Given the description of an element on the screen output the (x, y) to click on. 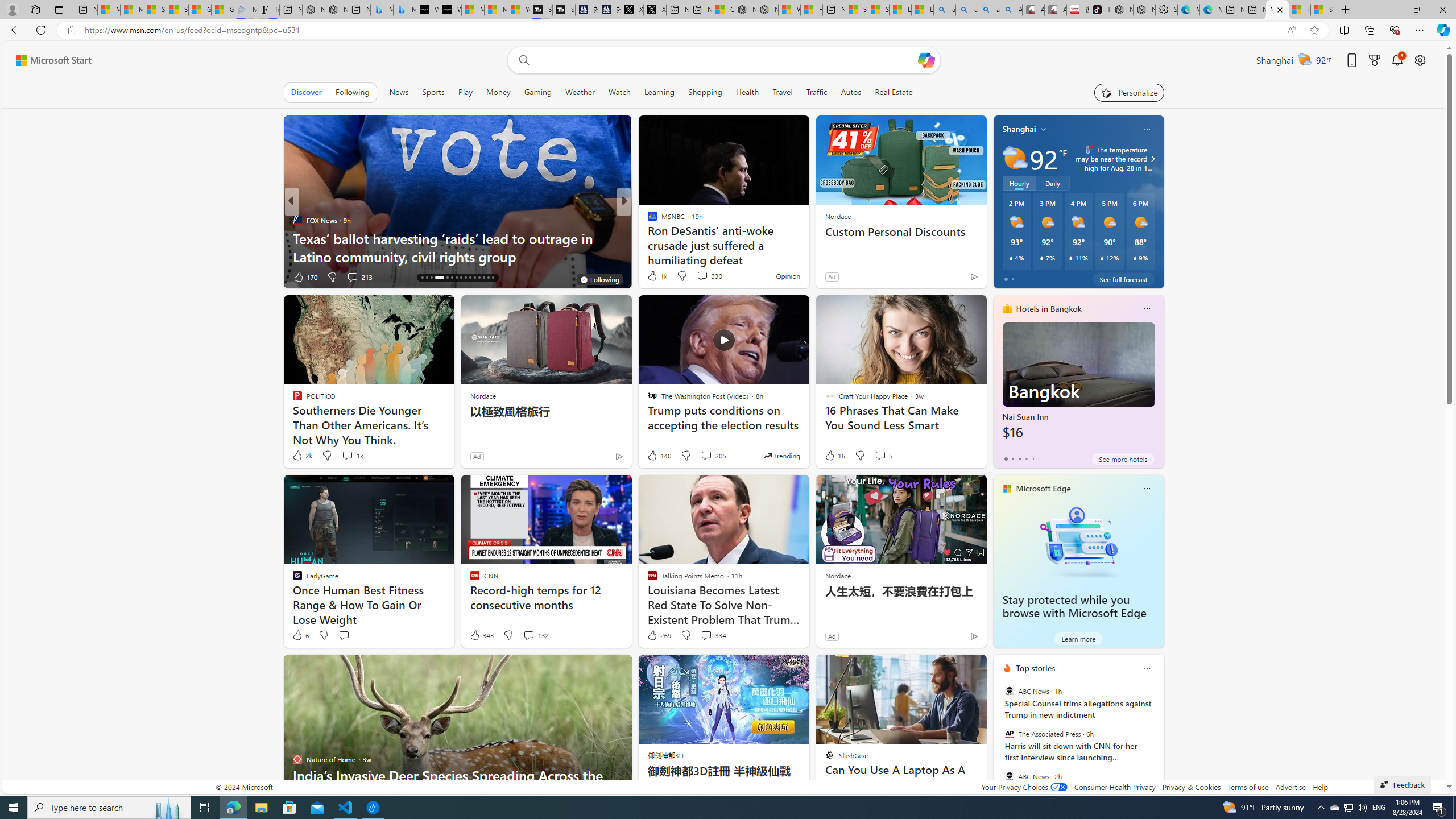
View comments 39 Comment (6, 276)
Open settings (1420, 60)
Travel (782, 92)
TikTok (1099, 9)
View comments 330 Comment (701, 275)
Comments turned off for this story (695, 276)
View comments 6 Comment (703, 276)
343 Like (480, 634)
Health (746, 92)
Class: icon-img (1146, 668)
